Given the description of an element on the screen output the (x, y) to click on. 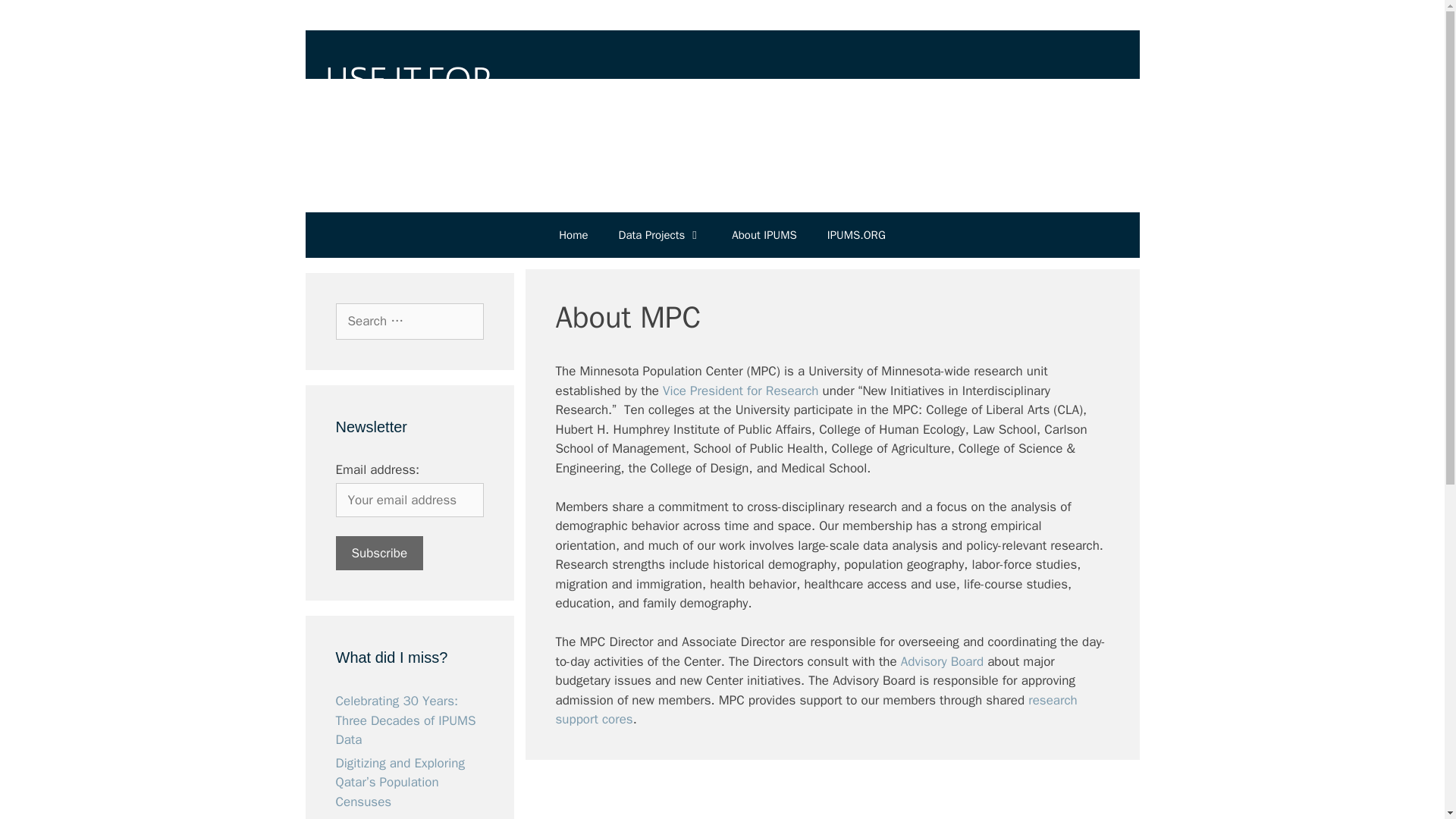
About IPUMS (763, 234)
Use It for Good (721, 105)
Search for: (408, 321)
Subscribe (378, 553)
Celebrating 30 Years: Three Decades of IPUMS Data (405, 719)
Advisory Board (942, 661)
Search (35, 18)
Vice President for Research (740, 390)
Data Projects (660, 234)
Use It for Good (721, 105)
